Given the description of an element on the screen output the (x, y) to click on. 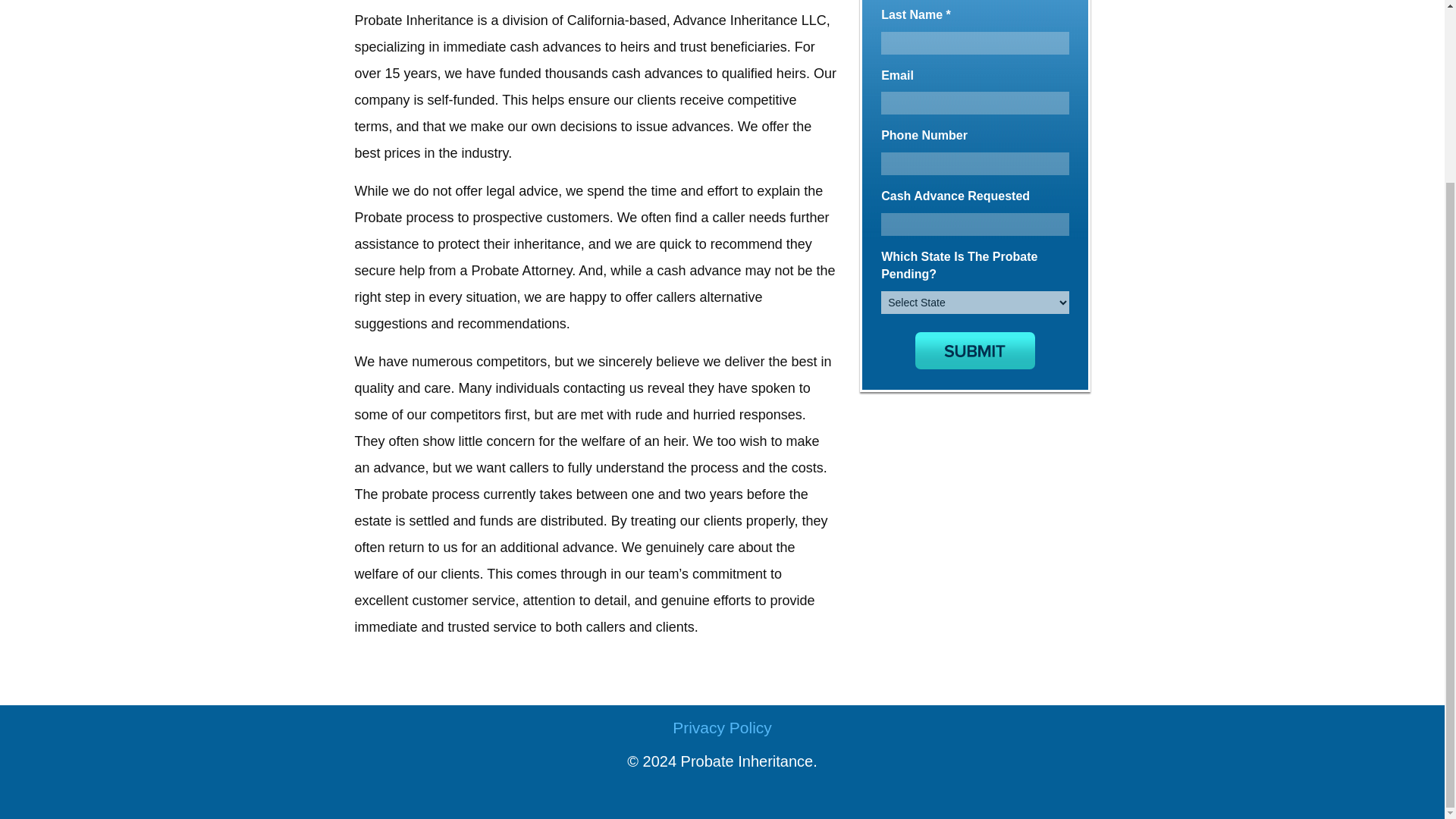
Submit (975, 350)
Privacy Policy (721, 728)
Submit (975, 350)
